Given the description of an element on the screen output the (x, y) to click on. 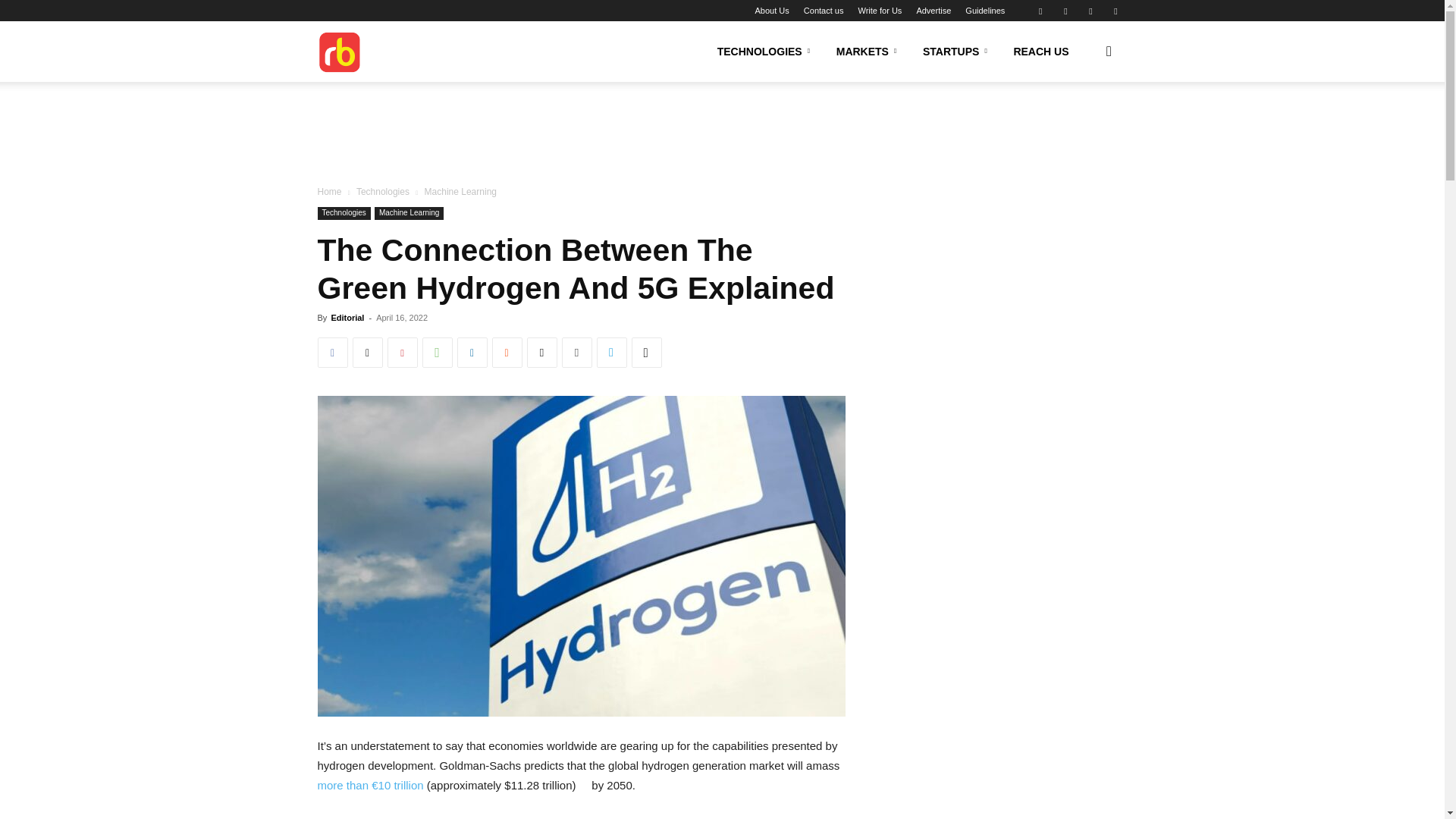
Contact us (823, 10)
RSS (1090, 10)
Write for Us (879, 10)
About Us (772, 10)
Twitter (1114, 10)
Linkedin (1065, 10)
Guidelines (984, 10)
Facebook (1040, 10)
Advertise (932, 10)
